Given the description of an element on the screen output the (x, y) to click on. 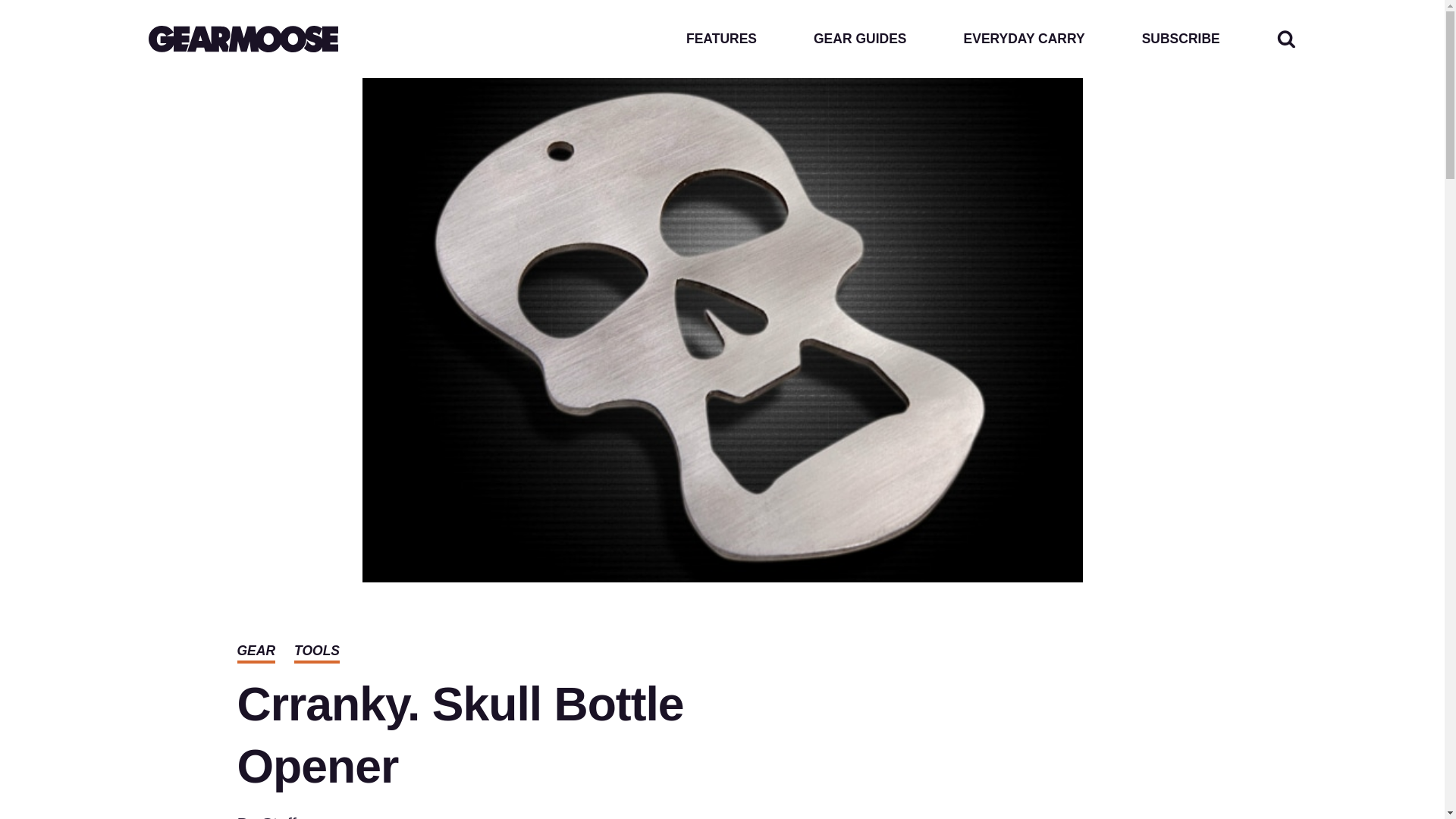
Toggle search form (1285, 38)
FEATURES (721, 38)
GEAR (255, 650)
GEAR GUIDES (860, 38)
Staff (279, 816)
SUBSCRIBE (1180, 38)
EVERYDAY CARRY (1023, 38)
TOOLS (316, 650)
